Given the description of an element on the screen output the (x, y) to click on. 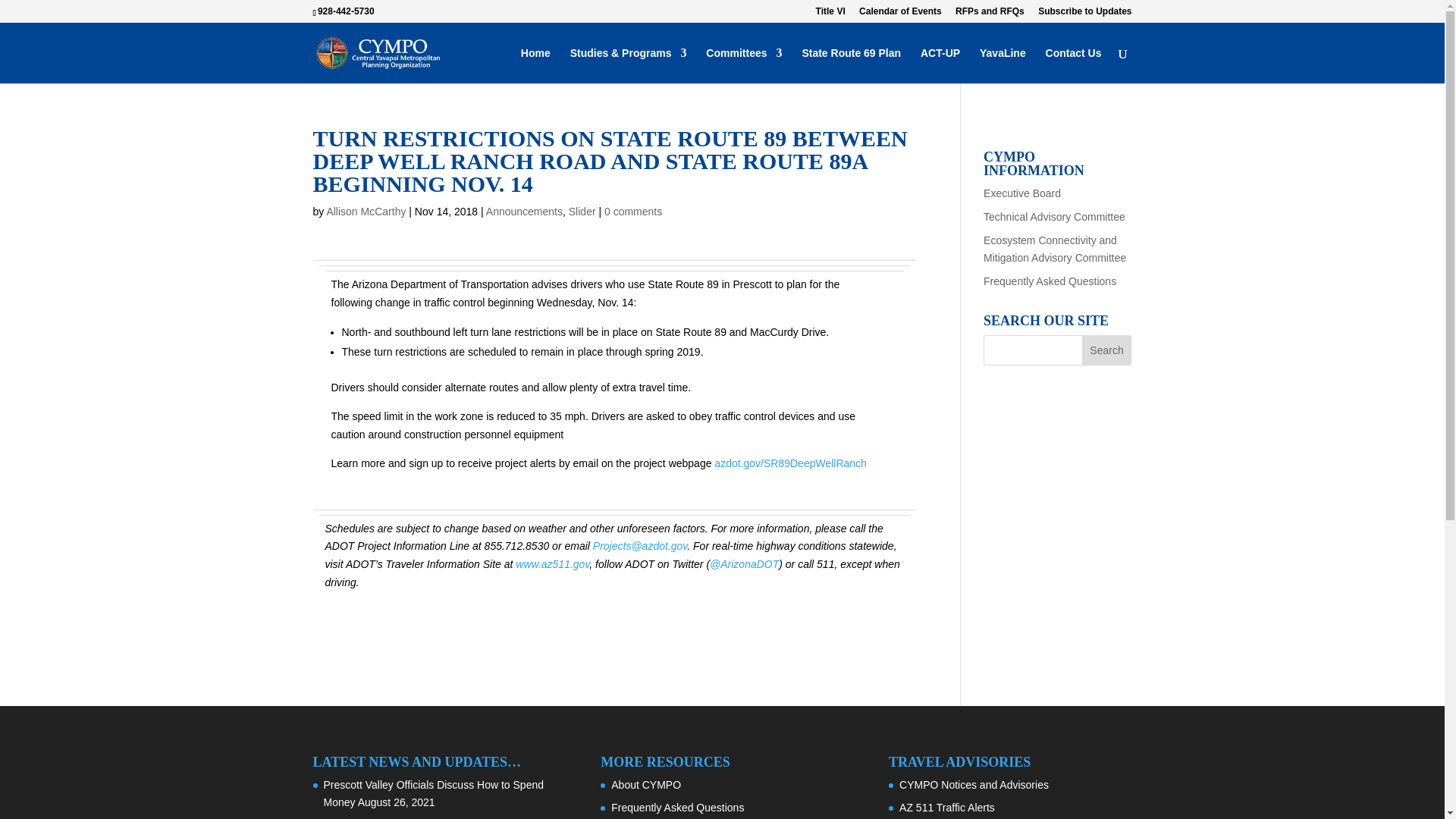
Contact Us (1073, 65)
Search (1106, 349)
ACT-UP (939, 65)
928-442-5730 (348, 10)
Posts by Allison McCarthy (366, 211)
YavaLine (1002, 65)
Subscribe to Updates (1084, 14)
Allison McCarthy (366, 211)
Calendar of Events (900, 14)
RFPs and RFQs (990, 14)
Committees (743, 65)
Announcements (524, 211)
Title VI (830, 14)
State Route 69 Plan (851, 65)
